Given the description of an element on the screen output the (x, y) to click on. 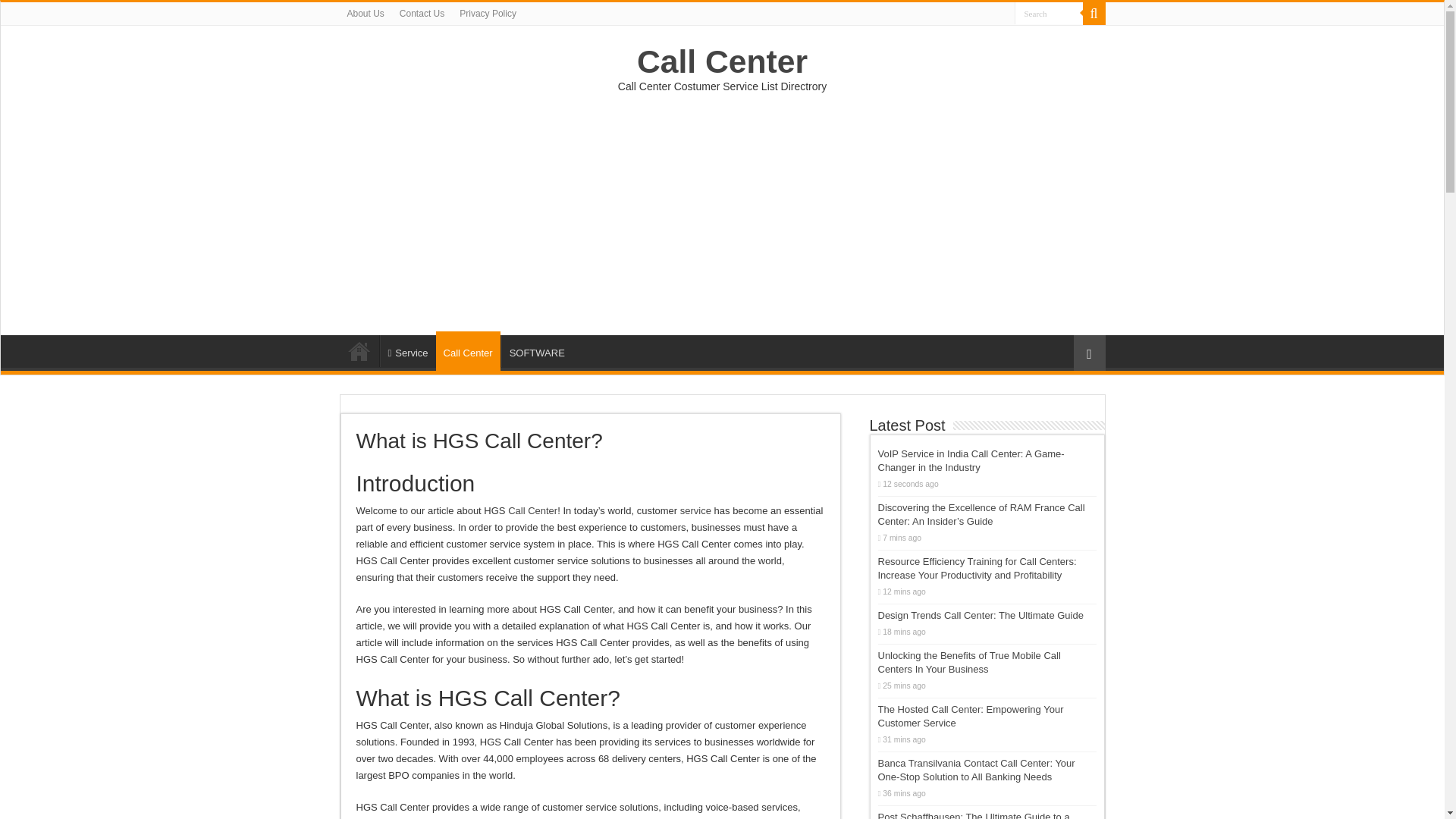
SOFTWARE (536, 350)
service (695, 510)
Contact Us (421, 13)
Service (406, 350)
Search (1048, 13)
HOME (358, 350)
Call Center (532, 510)
